Given the description of an element on the screen output the (x, y) to click on. 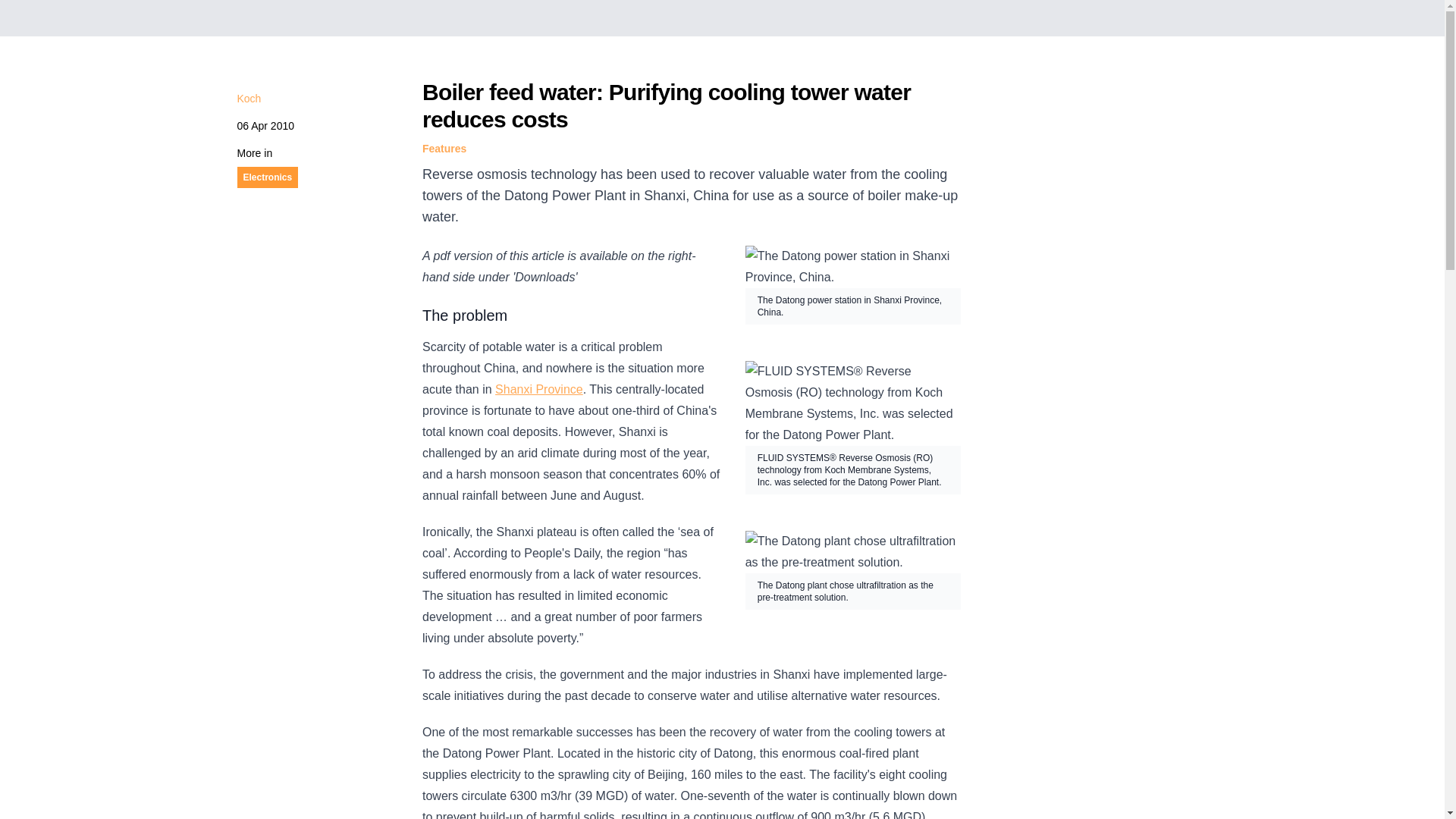
Shanxi Province (539, 389)
Koch (247, 98)
Features (443, 148)
Electronics (267, 176)
